Given the description of an element on the screen output the (x, y) to click on. 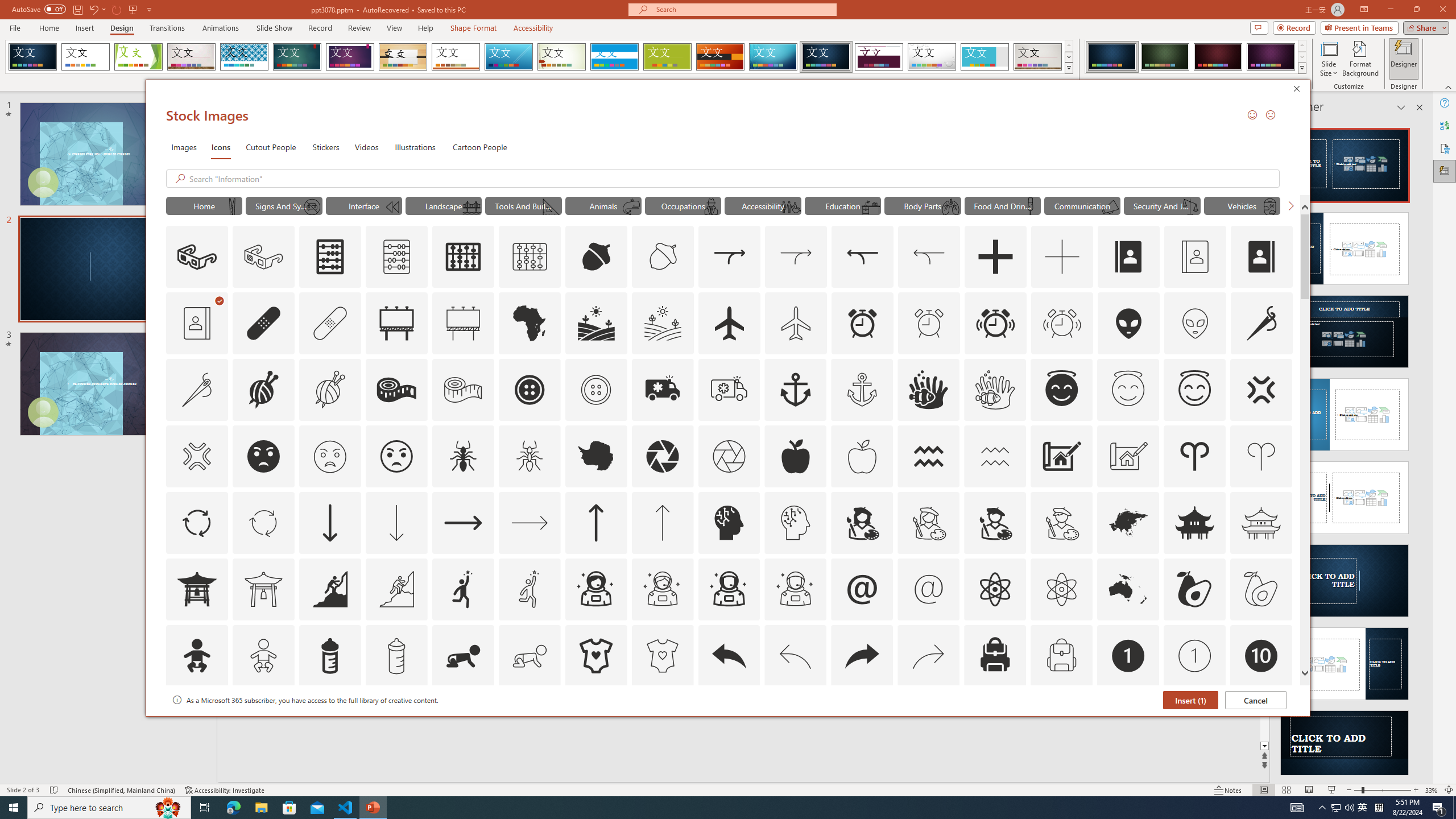
Insert (1) (1190, 700)
Integral (244, 56)
Facet (138, 56)
Berlin (720, 56)
AutomationID: Icons_Badge10_M (196, 721)
